Given the description of an element on the screen output the (x, y) to click on. 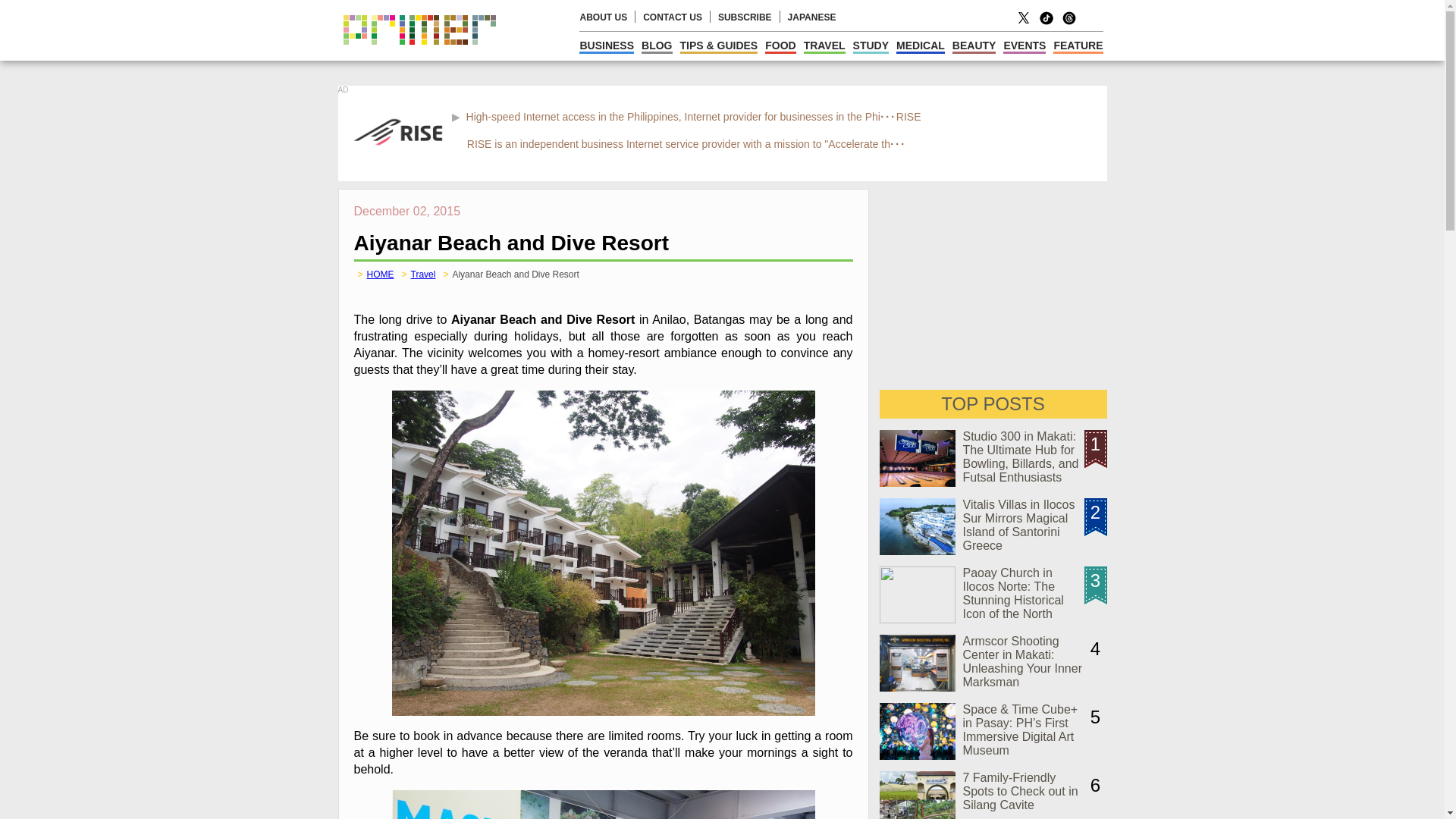
EVENTS (1024, 45)
Philippine Primer Top Page (418, 56)
HOME (380, 274)
Philippine Related Blog (656, 45)
BUSINESS (606, 45)
Philippine Food (779, 45)
Contact Us (672, 17)
TikTok (1046, 22)
MEDICAL (920, 45)
STUDY (870, 45)
FEATURE (1077, 45)
THreads (1069, 22)
Philippine Study (870, 45)
About Us (603, 17)
FOOD (779, 45)
